Given the description of an element on the screen output the (x, y) to click on. 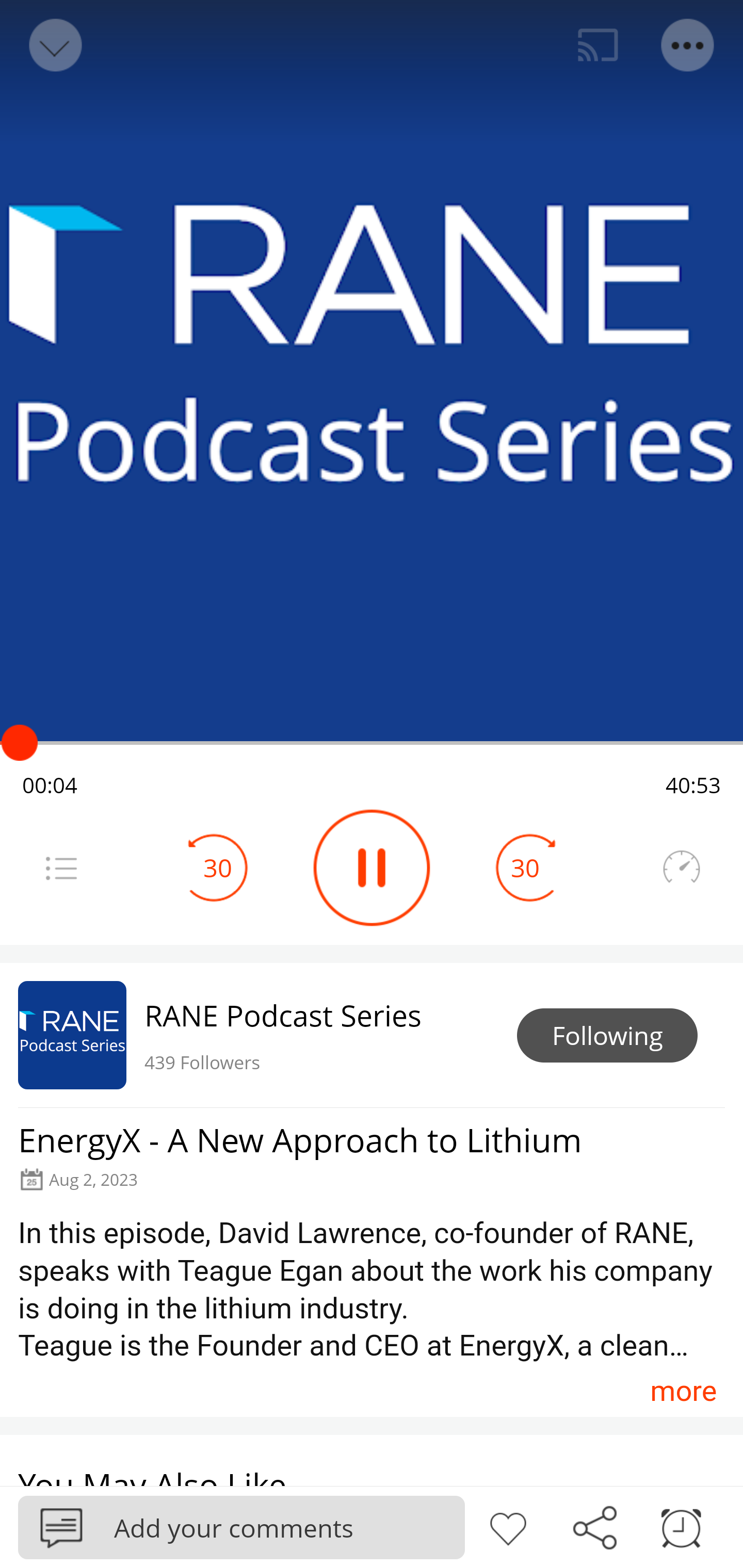
Back (53, 45)
Cast. Disconnected (597, 45)
Menu (688, 45)
Play (371, 867)
30 Seek Backward (217, 867)
30 Seek Forward (525, 867)
Menu (60, 867)
Speedometer (681, 867)
RANE Podcast Series 439 Followers Following (371, 1034)
Following (607, 1035)
more (682, 1390)
Like (508, 1526)
Share (594, 1526)
Sleep timer (681, 1526)
Podbean Add your comments (241, 1526)
